Given the description of an element on the screen output the (x, y) to click on. 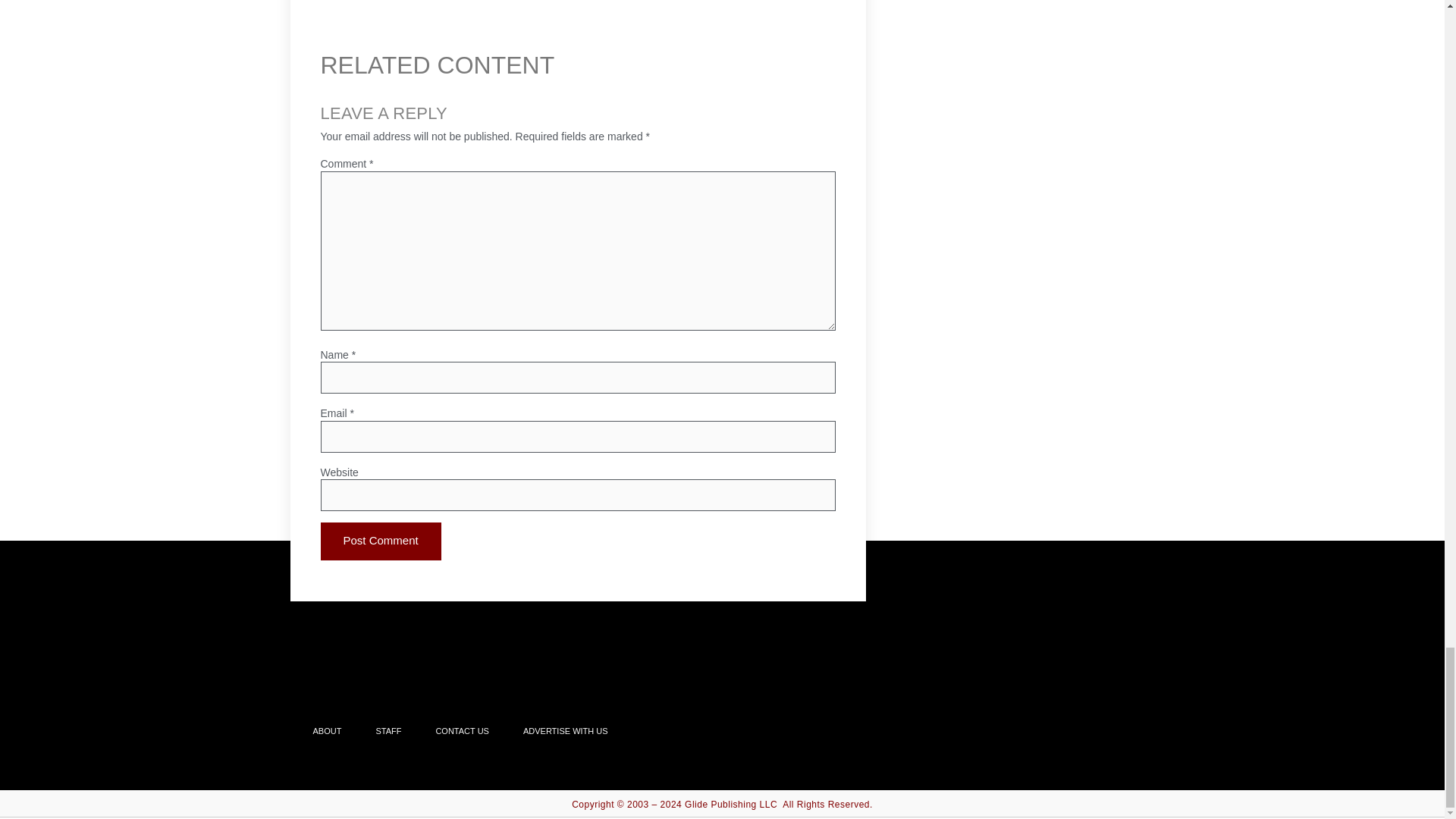
Post Comment (380, 541)
